Given the description of an element on the screen output the (x, y) to click on. 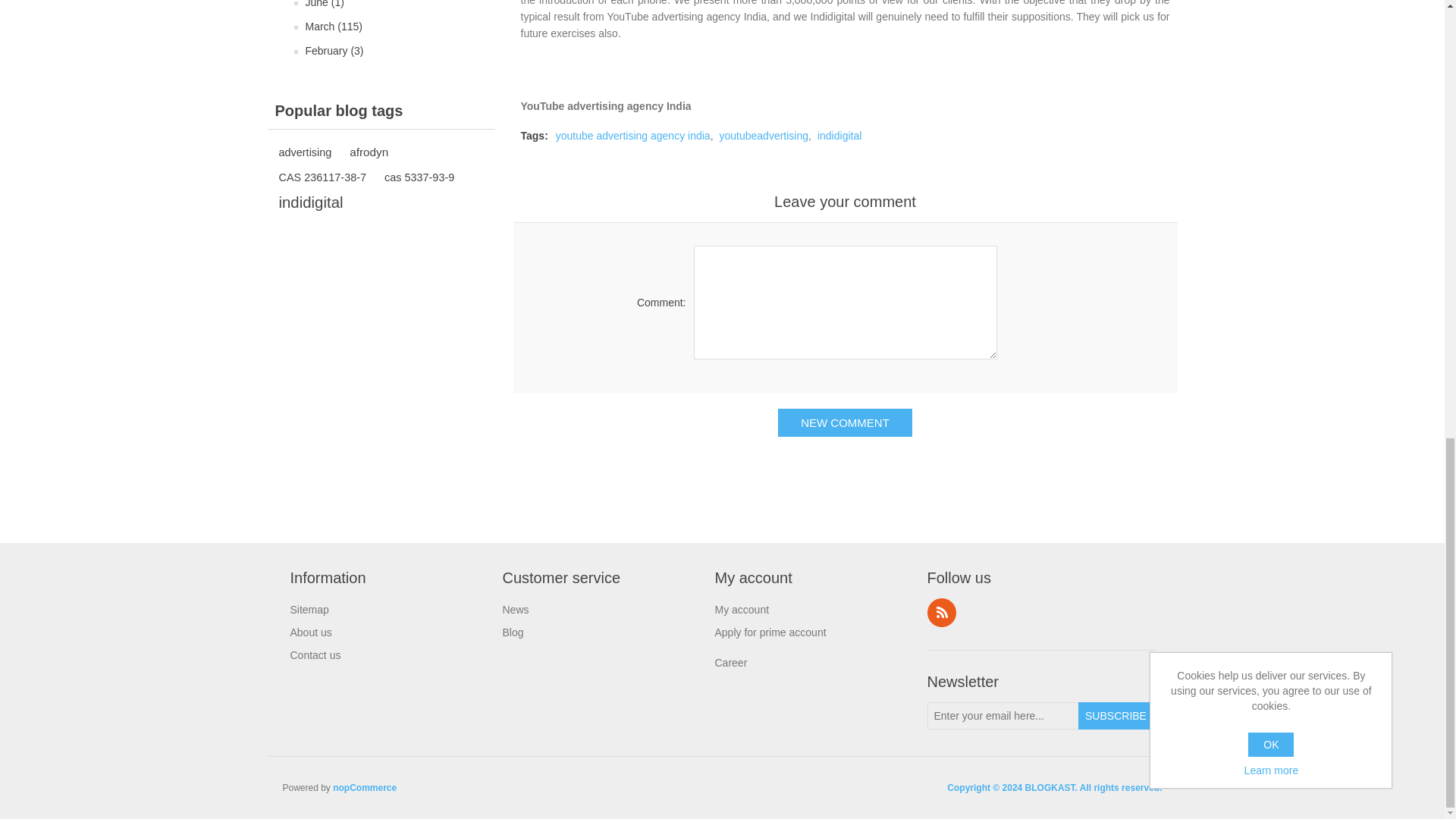
indidigital (311, 201)
New comment (844, 422)
Contact us (314, 654)
Subscribe (1116, 715)
YouTube advertising agency India (604, 105)
indidigital (838, 135)
advertising (305, 151)
Blog (512, 632)
My account (741, 609)
CAS 236117-38-7 (322, 177)
